Given the description of an element on the screen output the (x, y) to click on. 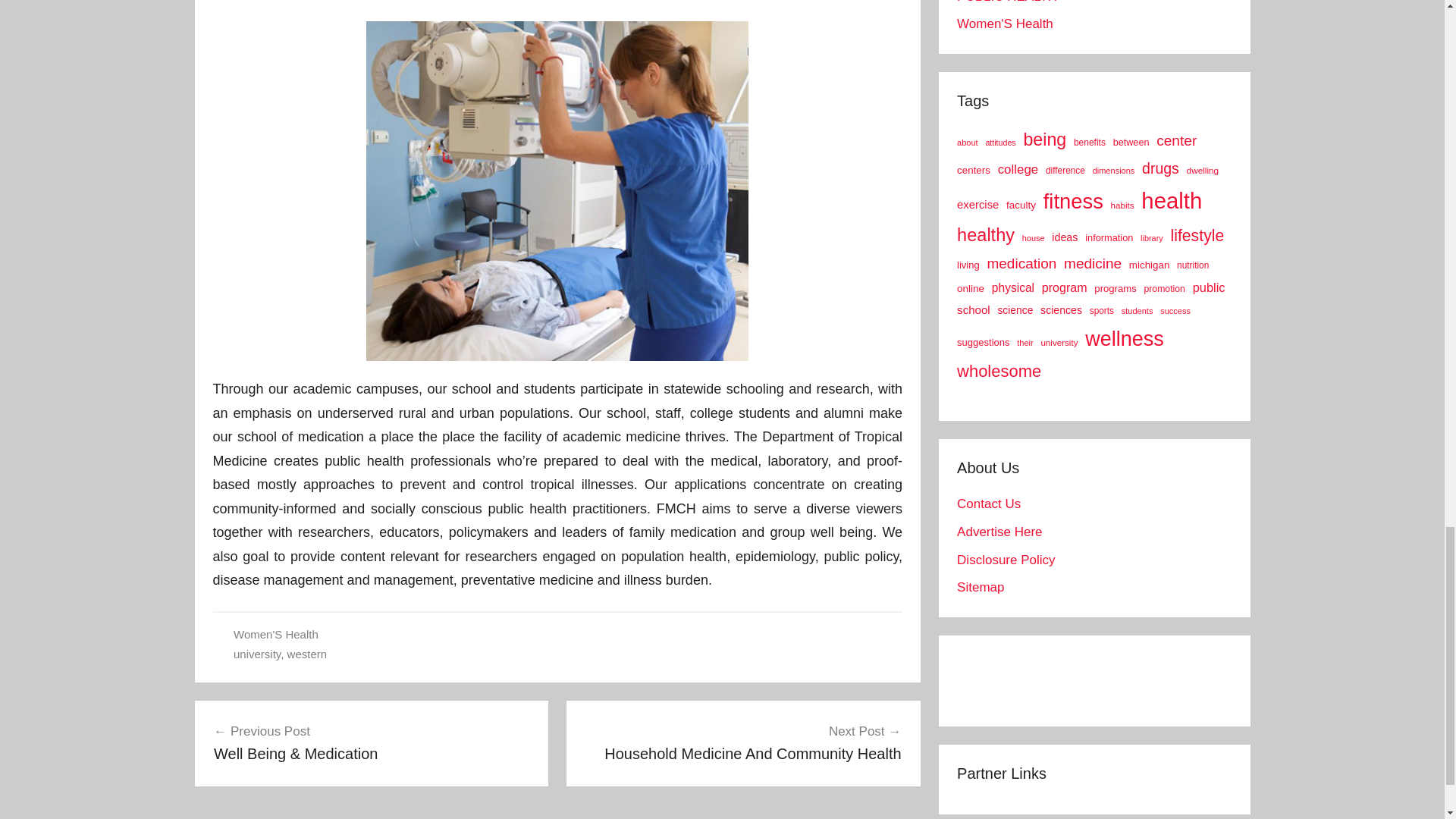
Women'S Health (275, 634)
university (256, 653)
